Given the description of an element on the screen output the (x, y) to click on. 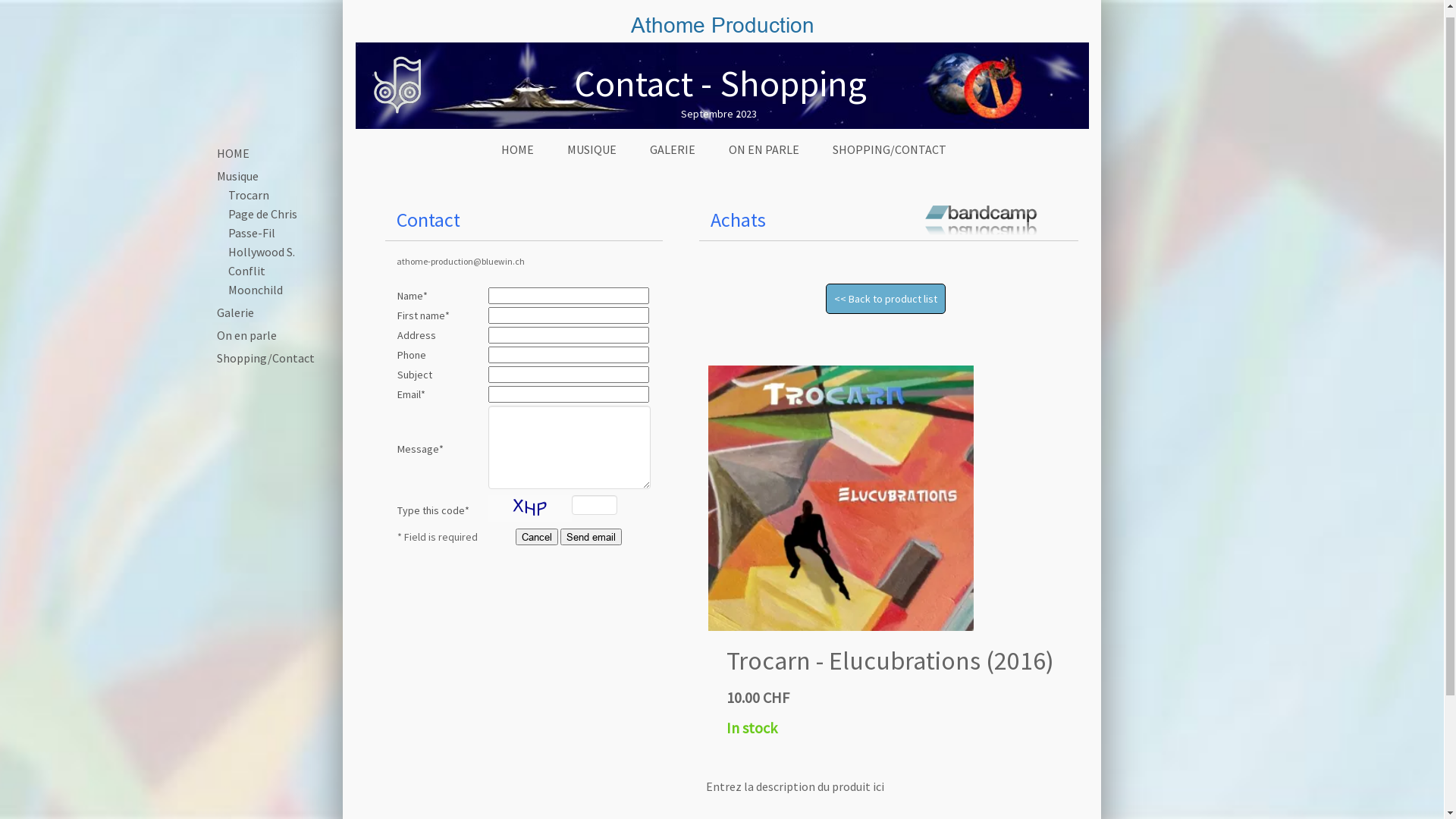
Send email Element type: text (590, 544)
HOME Element type: text (517, 157)
Passe-Fil Element type: text (246, 239)
HOME Element type: text (227, 160)
Musique Element type: text (232, 183)
Shopping/Contact Element type: text (260, 365)
Conflit Element type: text (241, 277)
Trocarn Element type: text (243, 202)
Hollywood S. Element type: text (255, 258)
Galerie Element type: text (230, 319)
MUSIQUE Element type: text (591, 157)
On en parle Element type: text (241, 342)
Cancel Element type: text (536, 544)
Page de Chris Element type: text (257, 221)
GALERIE Element type: text (672, 157)
Bandcamp Element type: hover (980, 223)
Moonchild Element type: text (249, 296)
ON EN PARLE Element type: text (763, 157)
SHOPPING/CONTACT Element type: text (889, 157)
